Given the description of an element on the screen output the (x, y) to click on. 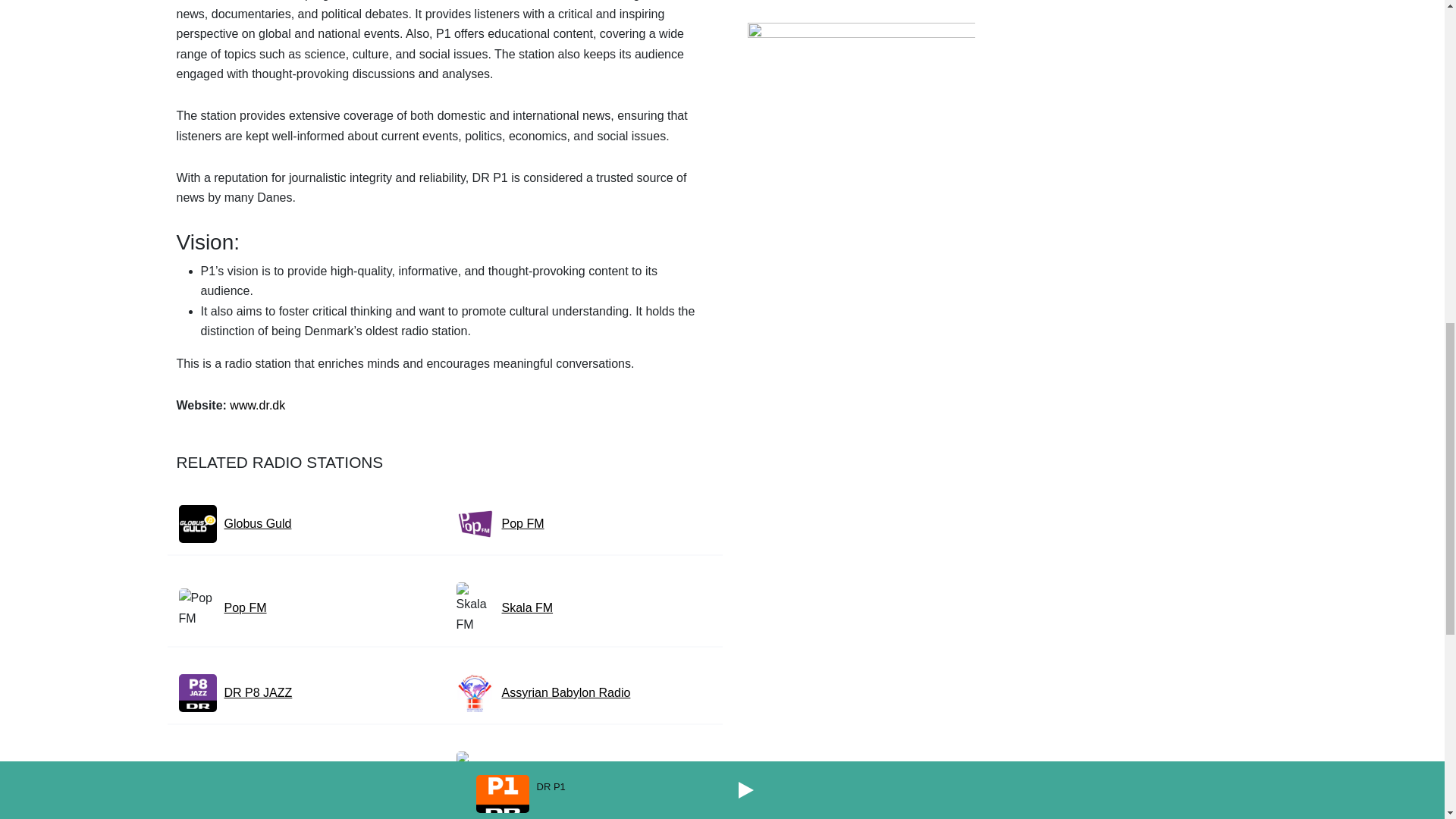
Pop FM (245, 608)
Pop FM (523, 523)
Skala FM (527, 608)
Radio Globus (261, 786)
Radio Projekti 21 (548, 786)
Globus Guld (258, 523)
www.dr.dk (257, 405)
Assyrian Babylon Radio (566, 692)
DR P8 JAZZ (258, 692)
